Given the description of an element on the screen output the (x, y) to click on. 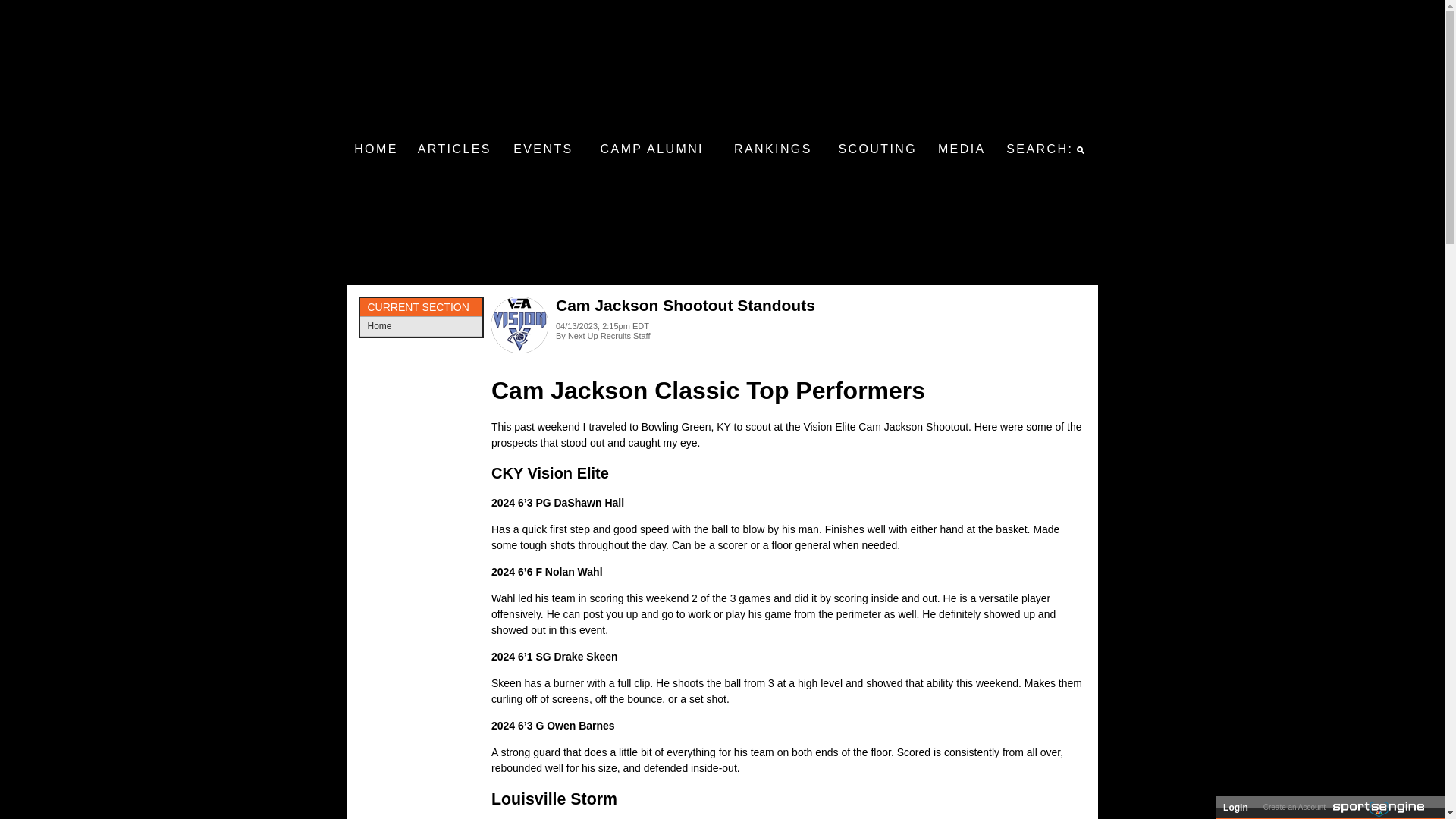
click to go to 'Articles' (453, 148)
HOME (376, 148)
click to go to 'Events' (543, 148)
Create an Account (1294, 807)
ARTICLES (453, 148)
click to go to 'Home' (376, 148)
MEDIA (961, 148)
CAMP ALUMNI (651, 148)
SCOUTING (877, 148)
Login (1235, 807)
